Given the description of an element on the screen output the (x, y) to click on. 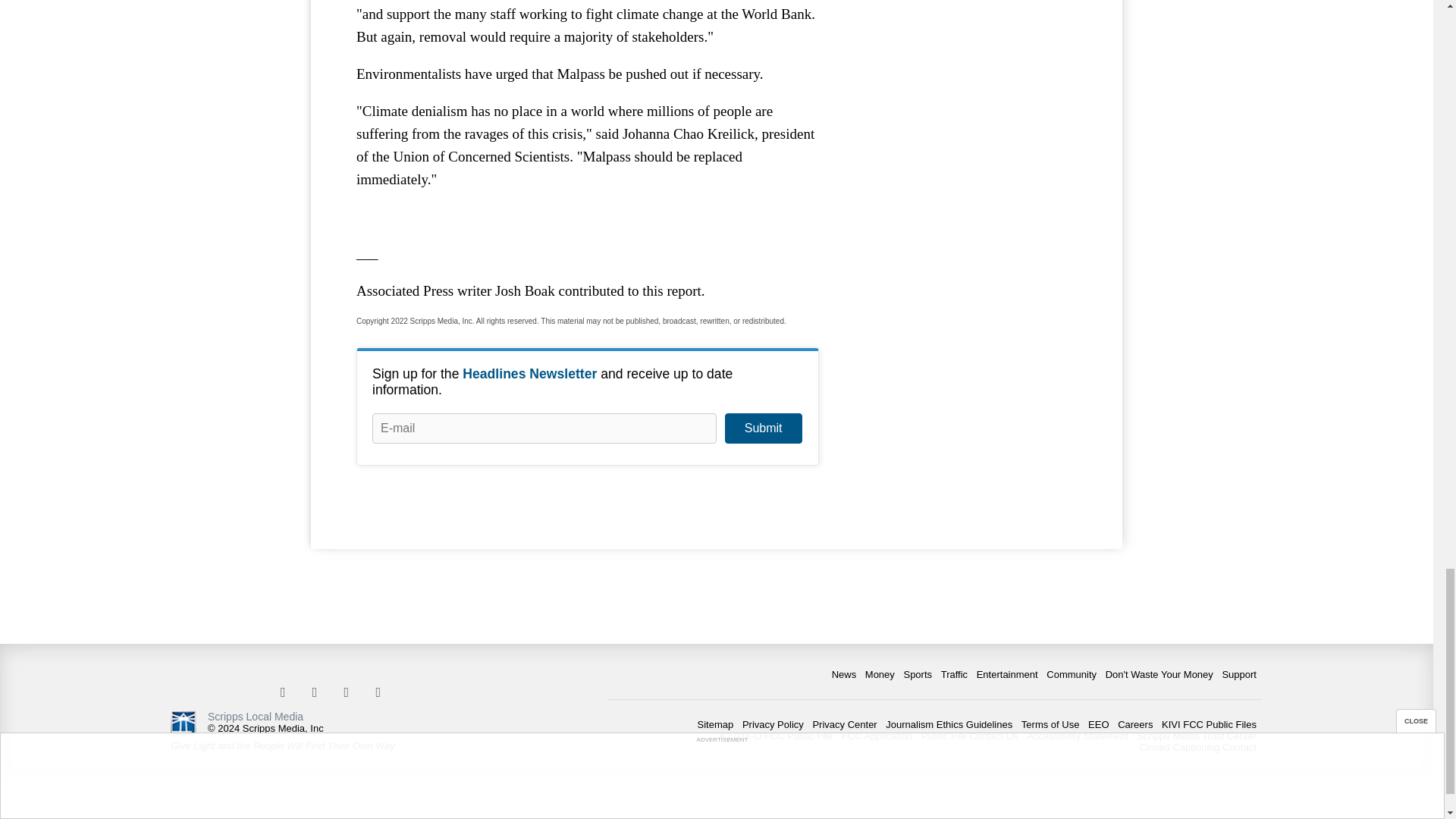
Submit (763, 428)
